Given the description of an element on the screen output the (x, y) to click on. 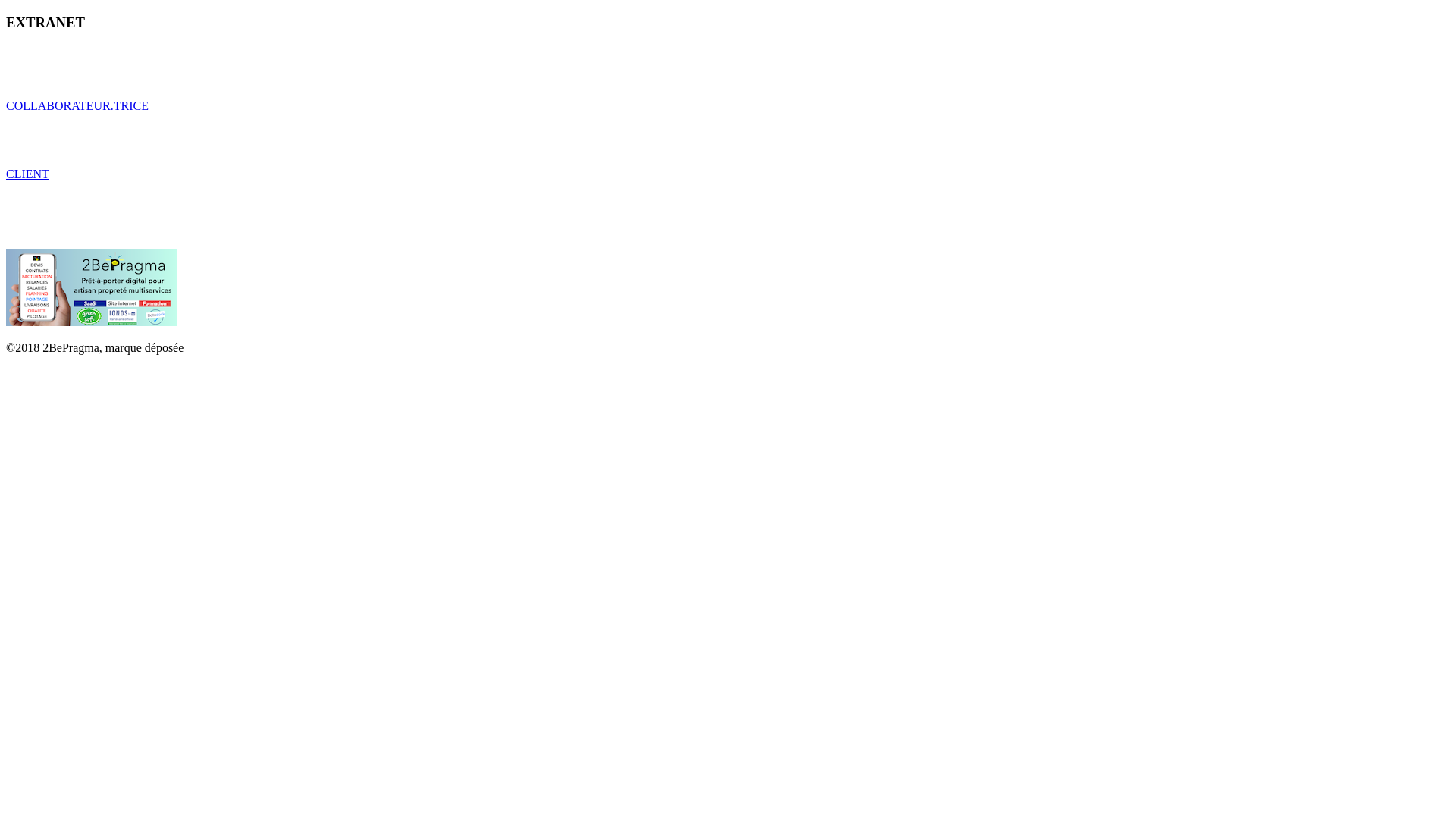
COLLABORATEUR.TRICE Element type: text (77, 105)
CLIENT Element type: text (27, 173)
